Given the description of an element on the screen output the (x, y) to click on. 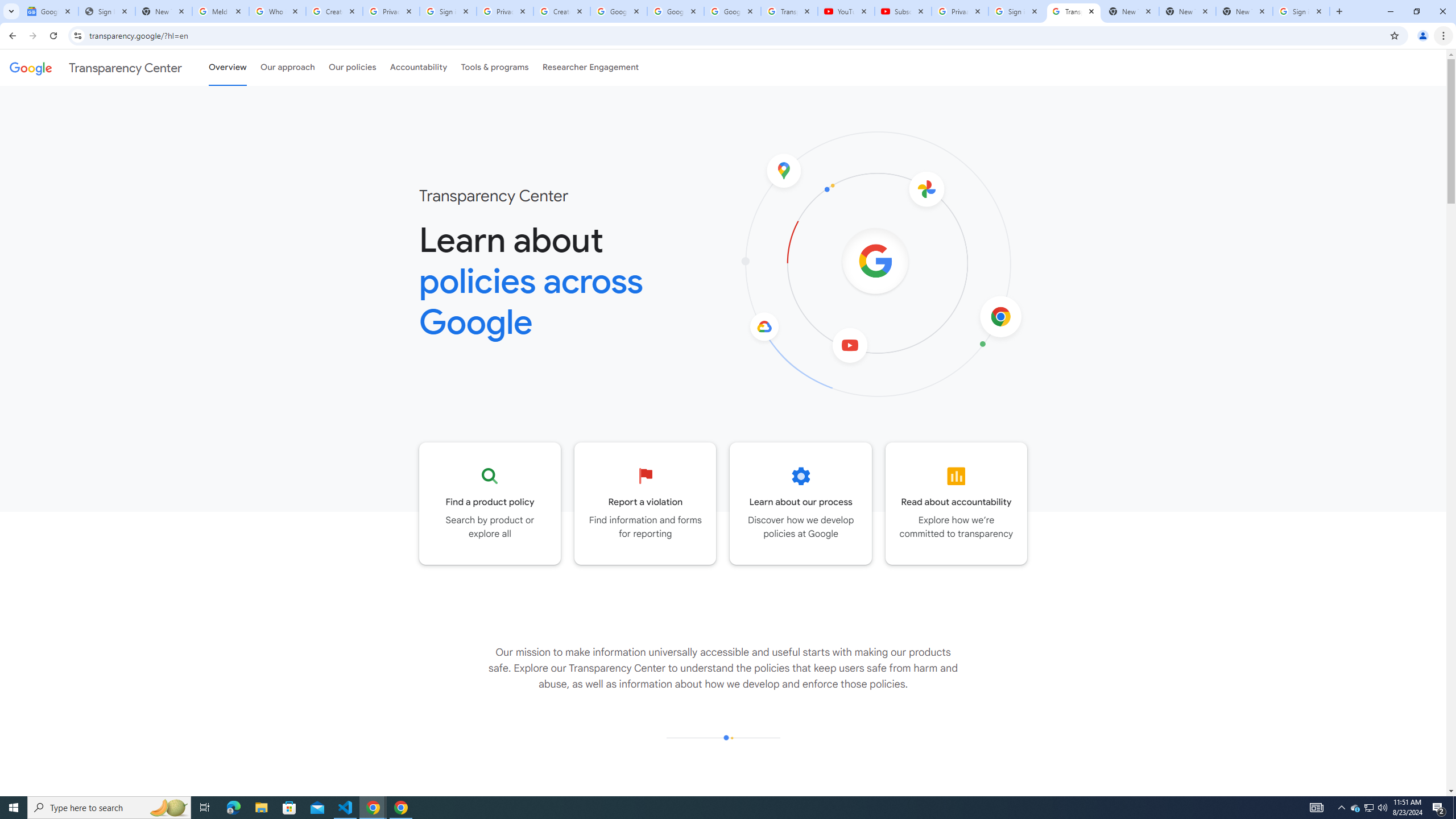
Google Account (731, 11)
Go to the Our process page (800, 503)
Accountability (418, 67)
Our approach (287, 67)
Go to the Accountability page (956, 503)
Create your Google Account (561, 11)
Create your Google Account (334, 11)
Go to the Reporting and appeals page (645, 503)
